Given the description of an element on the screen output the (x, y) to click on. 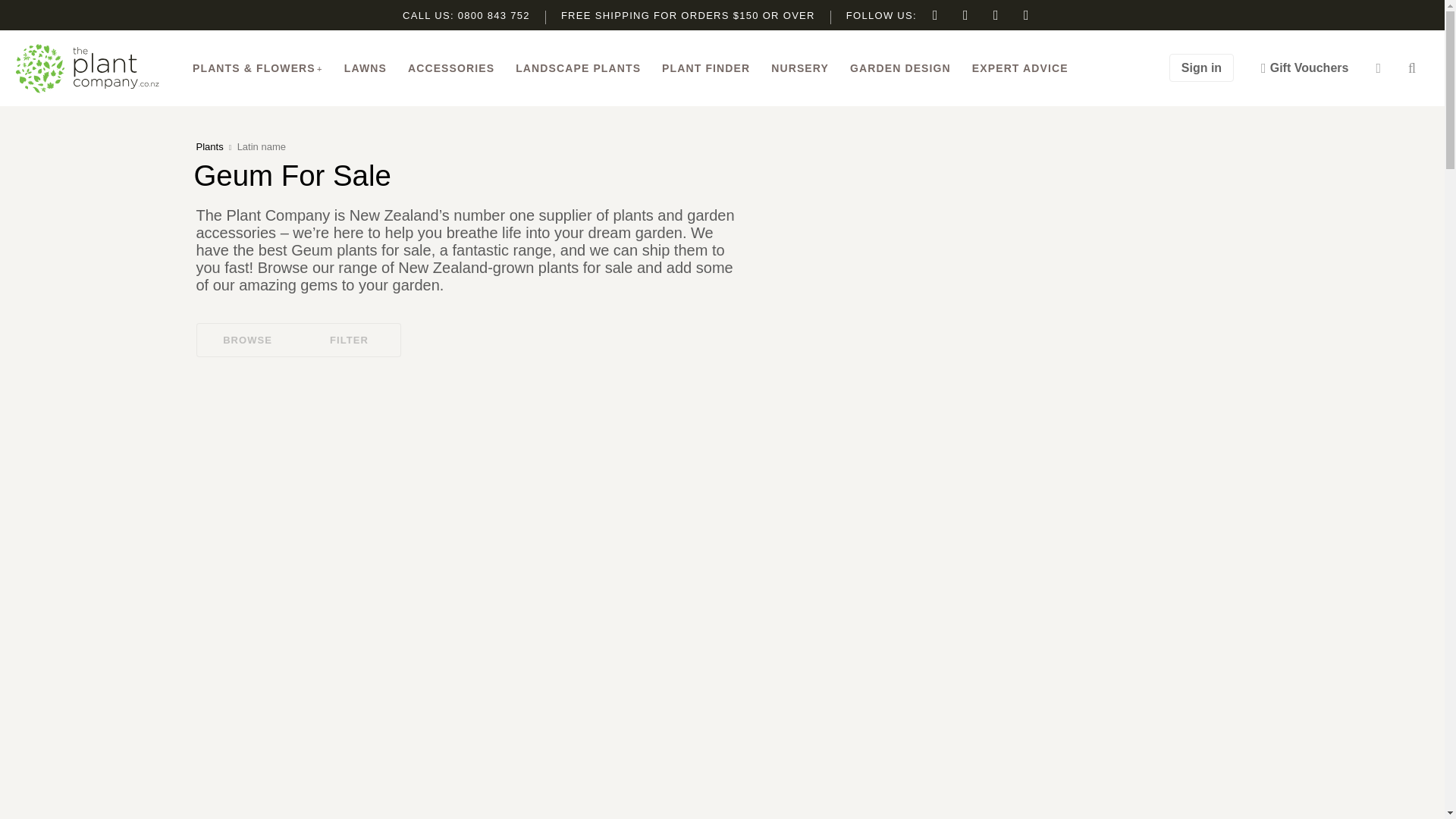
Gift Vouchers (1304, 67)
BROWSE (246, 339)
Instagram (965, 15)
YouTube (1026, 15)
Garden Design (900, 67)
Pinterest (996, 15)
Search (1411, 67)
Gift Vouchers (1304, 67)
EXPERT ADVICE (1020, 67)
FILTER (349, 339)
Plant Finder (705, 67)
Shopping cart (1377, 67)
Nursery (799, 67)
CALL US: 0800 843 752 (466, 15)
Sign in (1201, 67)
